Given the description of an element on the screen output the (x, y) to click on. 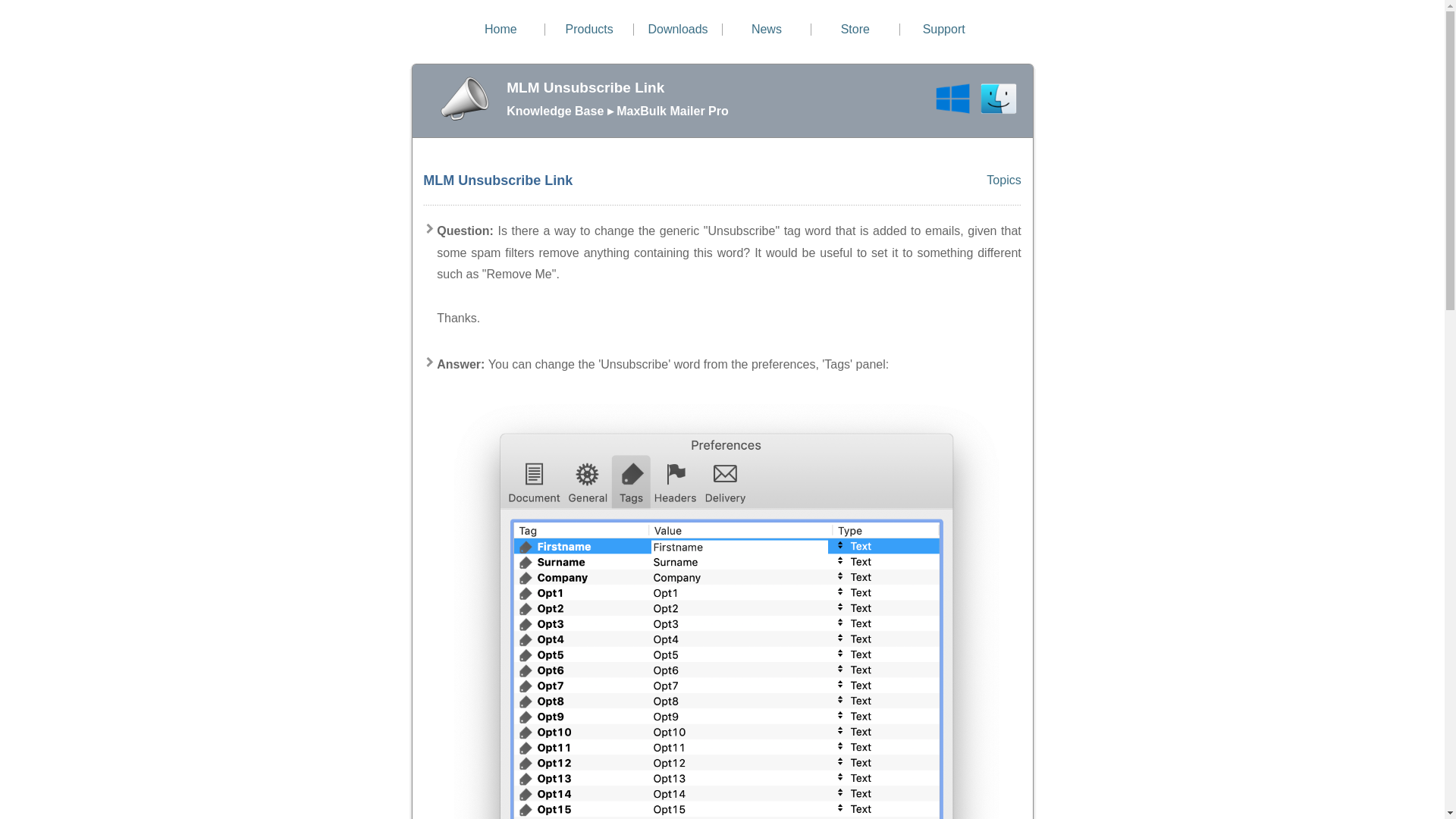
Support (944, 29)
Home (500, 29)
News (766, 29)
Products (589, 29)
Topics (1003, 179)
Store (855, 29)
Downloads (677, 29)
